Given the description of an element on the screen output the (x, y) to click on. 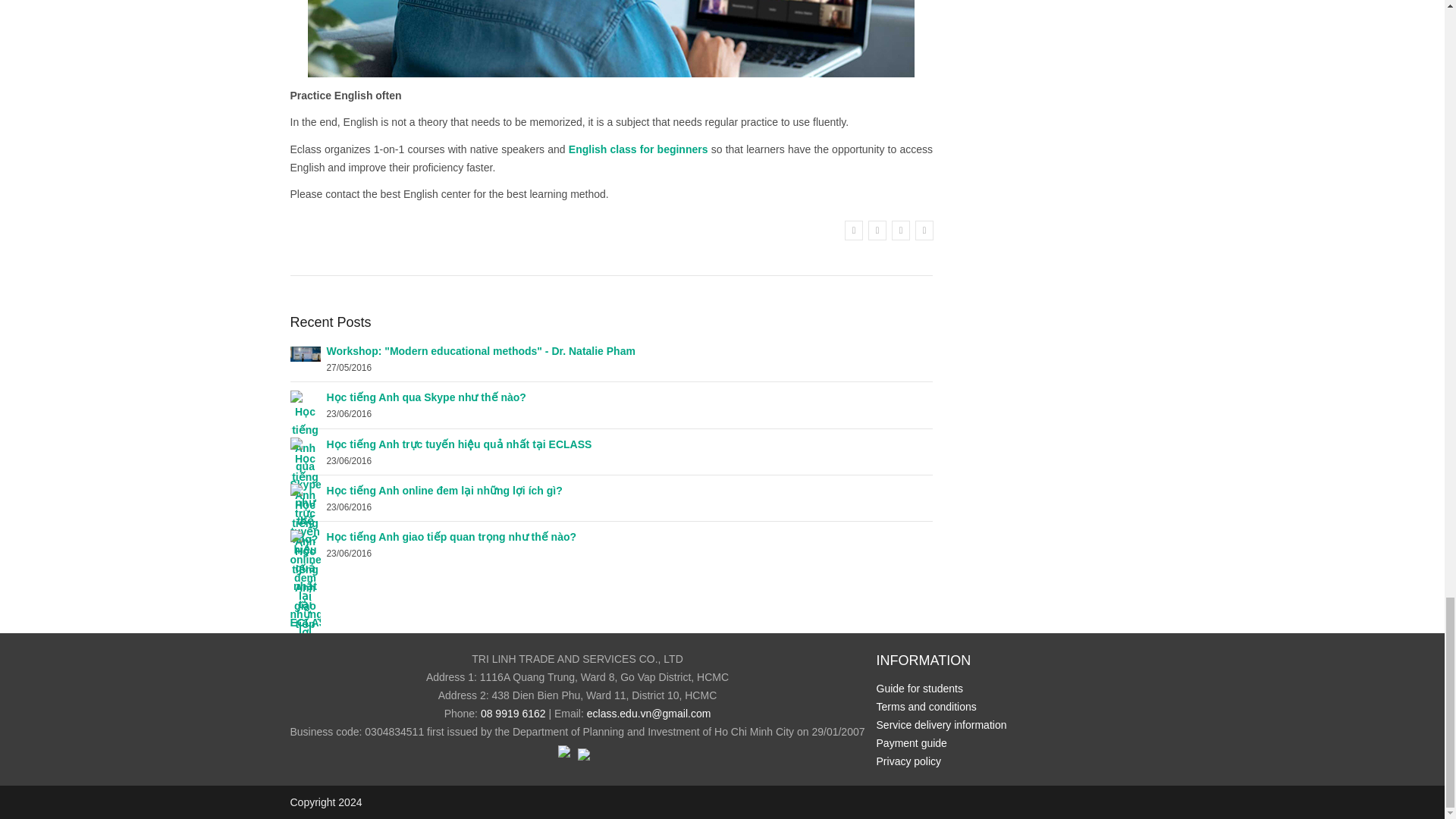
Workshop: "Modern educational methods" - Dr. Natalie Pham (480, 350)
Workshop: "Modern educational methods" - Dr. Natalie Pham (480, 350)
English class for beginners (638, 149)
Guide for students (919, 688)
Workshop: "Modern educational methods" - Dr. Natalie Pham (304, 353)
Terms and conditions (926, 706)
08 9919 6162 (513, 713)
